Given the description of an element on the screen output the (x, y) to click on. 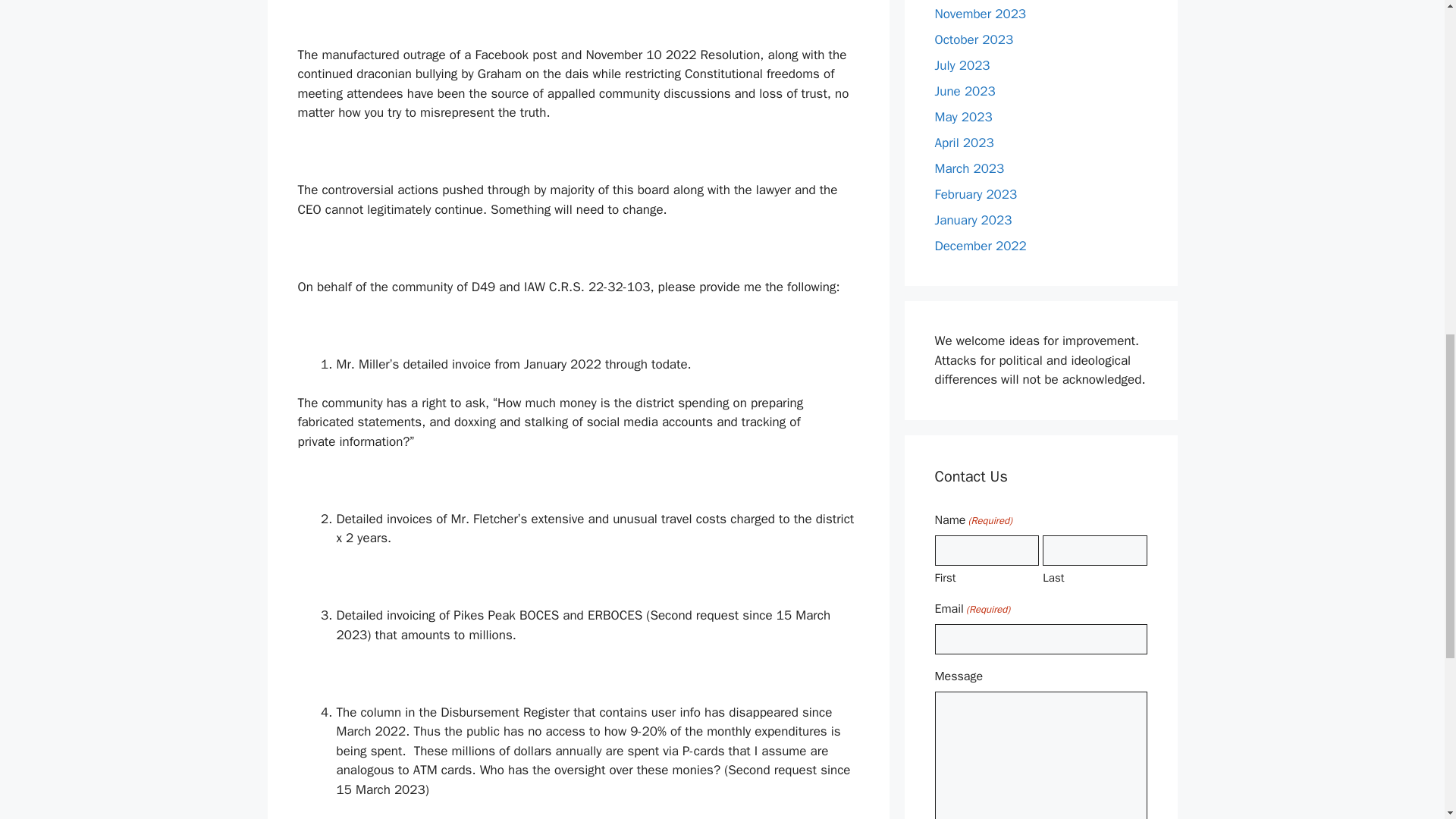
February 2023 (975, 194)
May 2023 (962, 116)
July 2023 (962, 65)
June 2023 (964, 91)
December 2022 (980, 245)
November 2023 (980, 13)
April 2023 (963, 142)
March 2023 (969, 168)
October 2023 (973, 39)
January 2023 (972, 220)
